Given the description of an element on the screen output the (x, y) to click on. 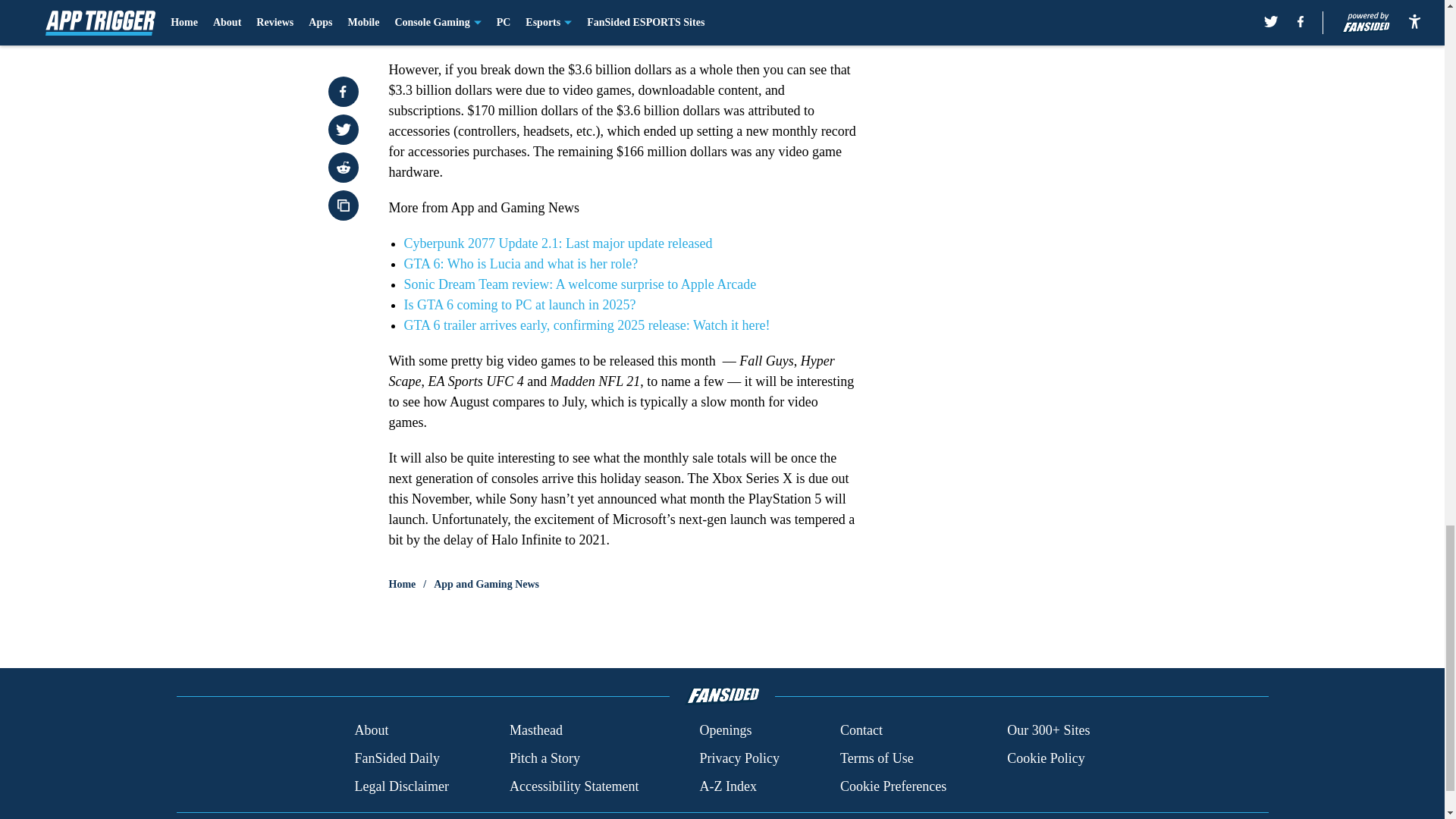
Openings (724, 730)
Home (401, 584)
Masthead (535, 730)
GTA 6: Who is Lucia and what is her role? (520, 263)
Contact (861, 730)
Sonic Dream Team review: A welcome surprise to Apple Arcade (579, 283)
App and Gaming News (485, 584)
Is GTA 6 coming to PC at launch in 2025? (518, 304)
About (370, 730)
Cyberpunk 2077 Update 2.1: Last major update released (557, 242)
